Given the description of an element on the screen output the (x, y) to click on. 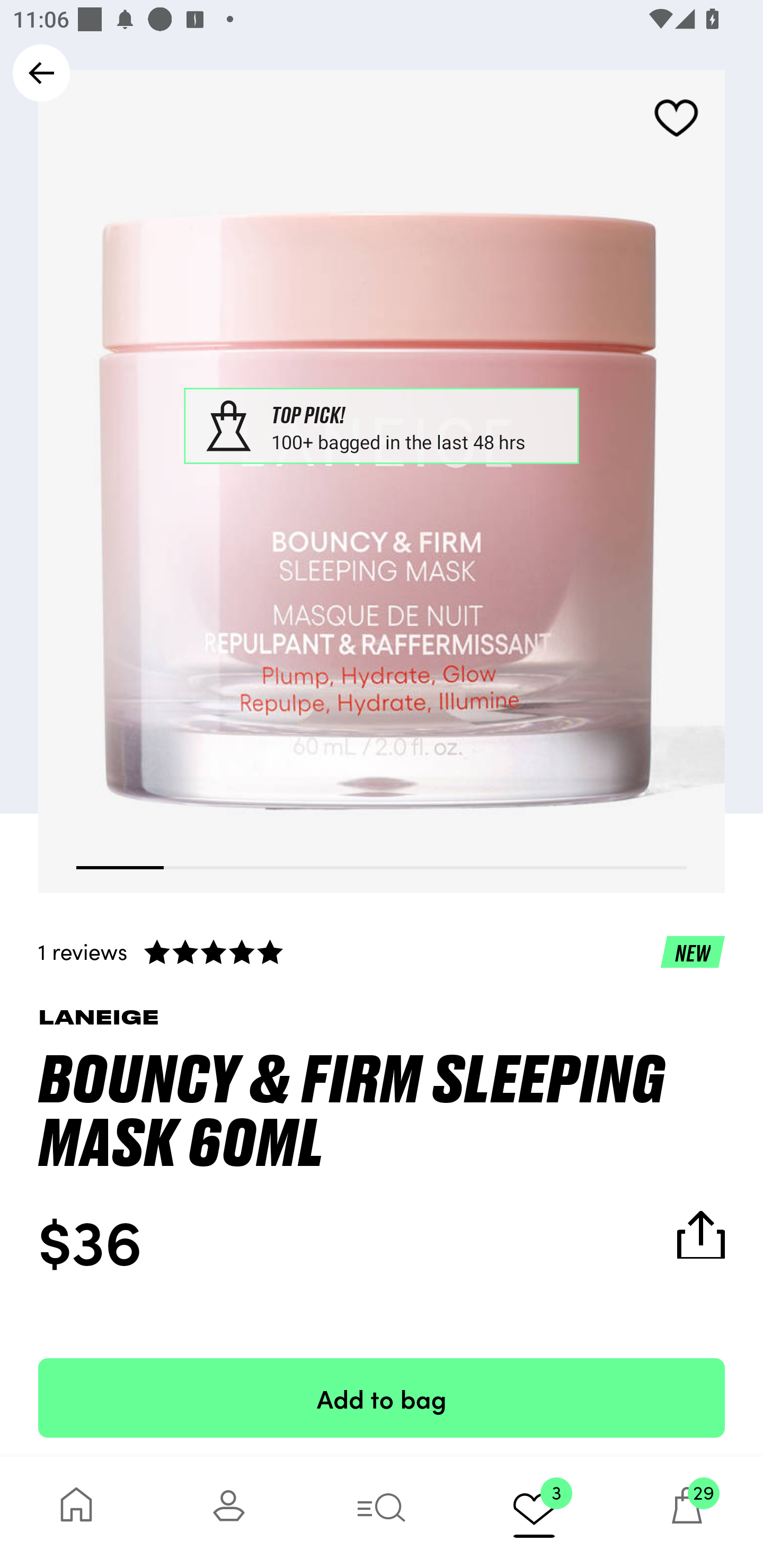
1 reviews (381, 950)
Add to bag (381, 1397)
3 (533, 1512)
29 (686, 1512)
